Given the description of an element on the screen output the (x, y) to click on. 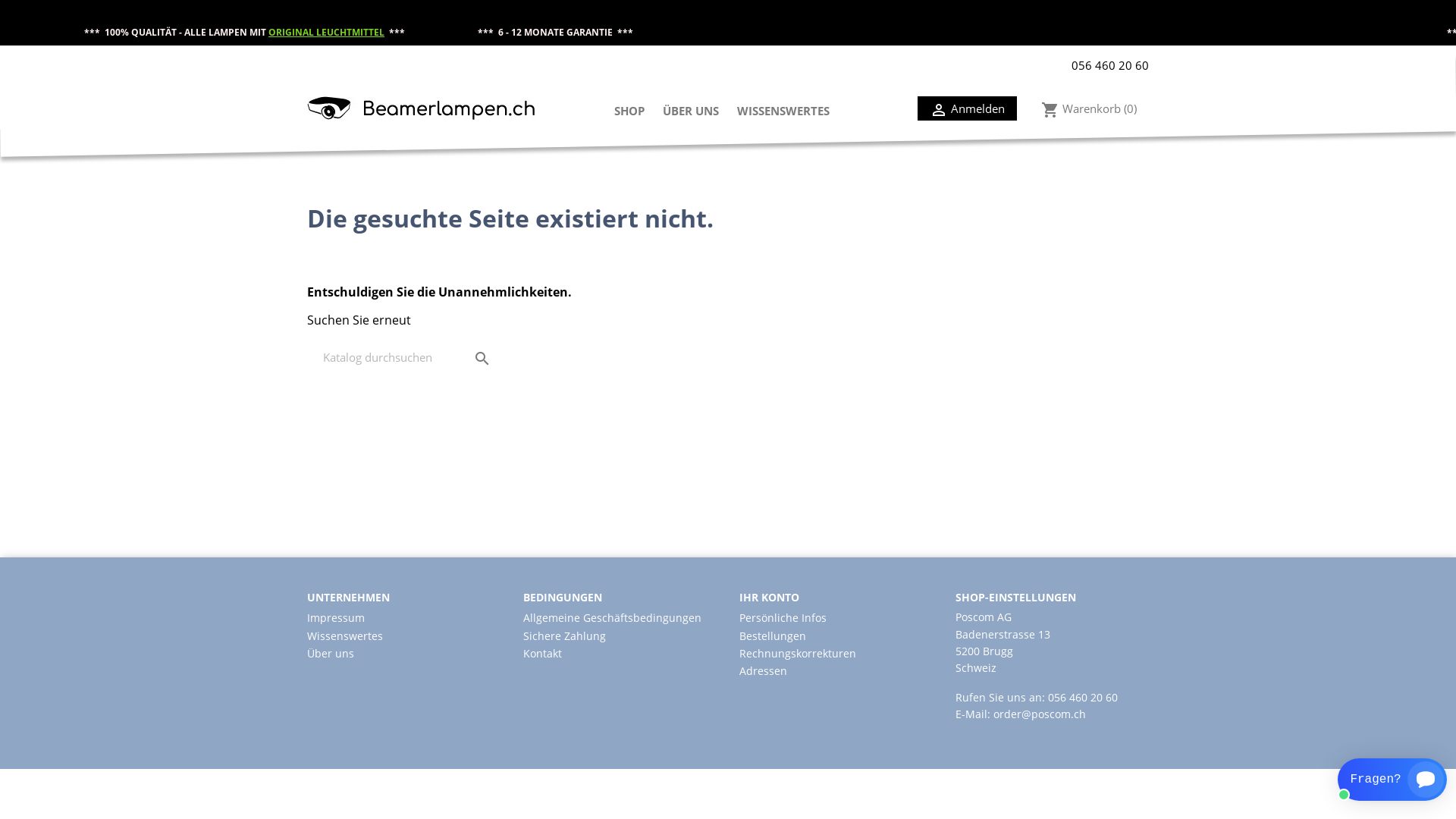
Wissenswertes Element type: text (344, 635)
Rechnungskorrekturen Element type: text (797, 653)
Impressum Element type: text (335, 617)
Bestellungen Element type: text (772, 635)
order@poscom.ch Element type: text (1039, 713)
Smartsupp widget button Element type: hover (1391, 779)
Kontakt Element type: text (542, 653)
WISSENSWERTES Element type: text (783, 111)
Sichere Zahlung Element type: text (564, 635)
IHR KONTO Element type: text (769, 596)
SHOP Element type: text (629, 111)
Adressen Element type: text (763, 670)
